Given the description of an element on the screen output the (x, y) to click on. 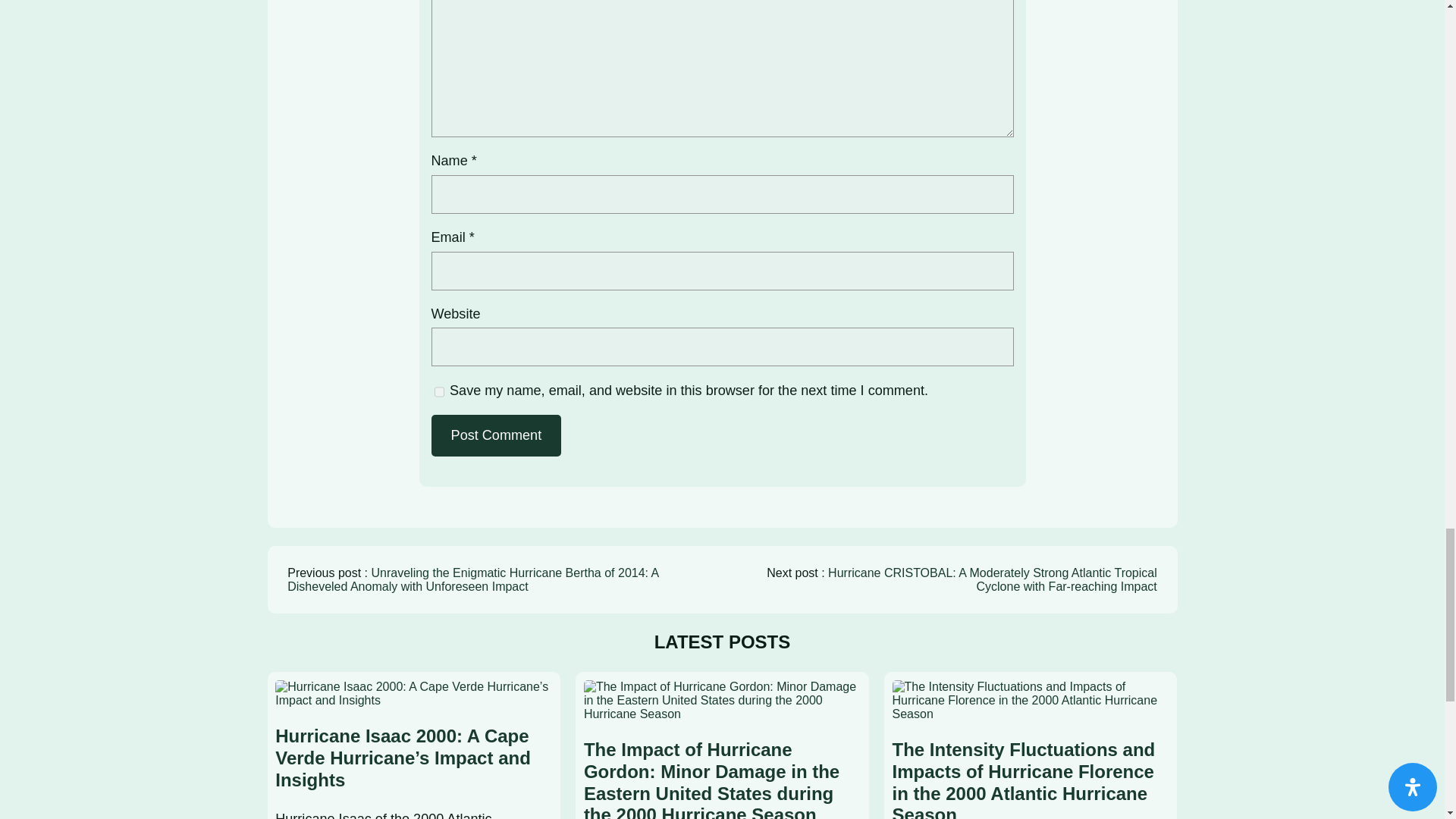
Post Comment (495, 435)
Post Comment (495, 435)
